Given the description of an element on the screen output the (x, y) to click on. 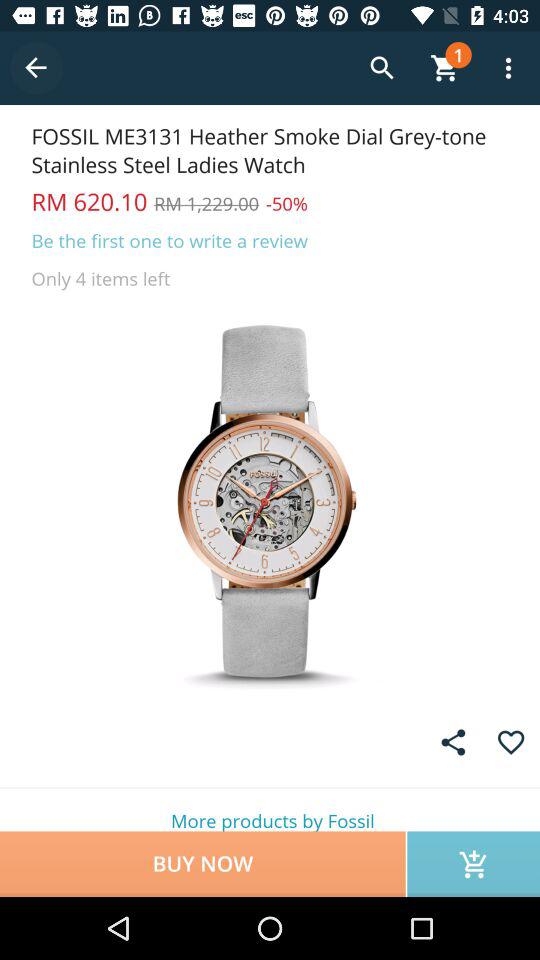
click to add favorite (510, 742)
